Given the description of an element on the screen output the (x, y) to click on. 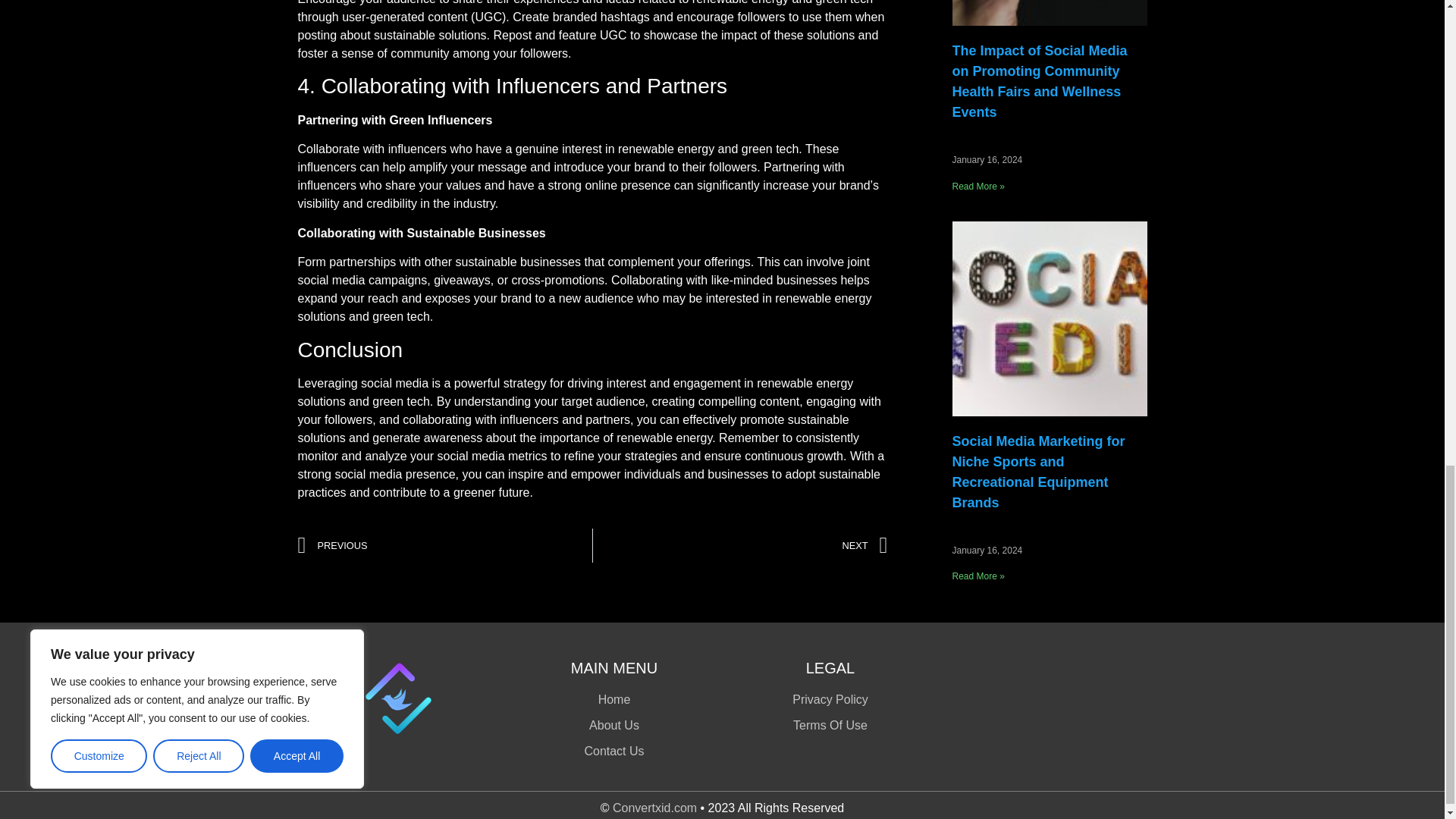
NEXT (740, 545)
About Us (613, 725)
Home (613, 700)
Privacy Policy (829, 700)
Terms Of Use (829, 725)
Contact Us (613, 751)
Convertxid.com (654, 807)
PREVIOUS (444, 545)
